Given the description of an element on the screen output the (x, y) to click on. 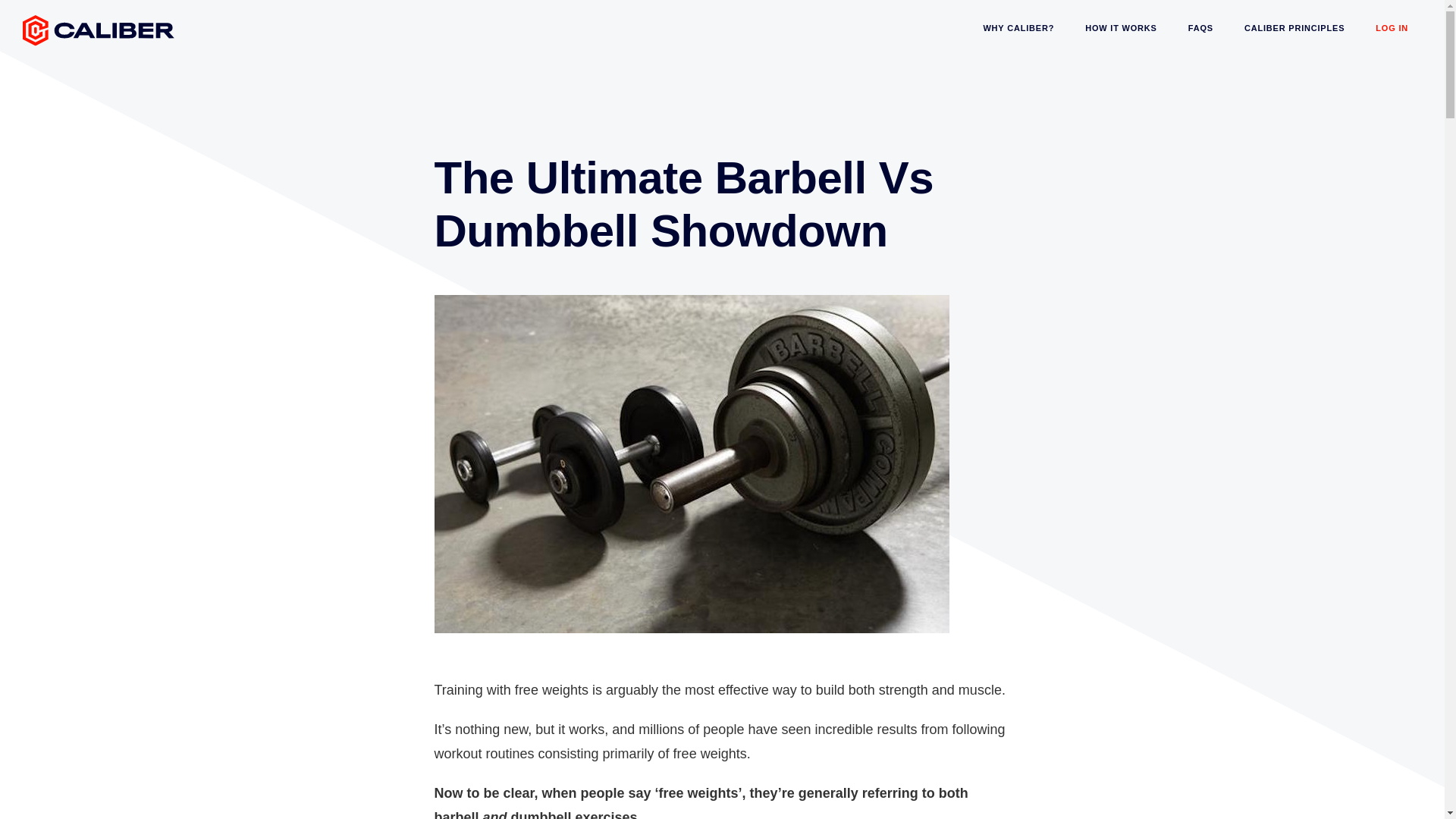
FAQS (1200, 27)
LOG IN (1391, 27)
CALIBER PRINCIPLES (1294, 27)
WHY CALIBER? (1018, 27)
HOW IT WORKS (1120, 27)
